Given the description of an element on the screen output the (x, y) to click on. 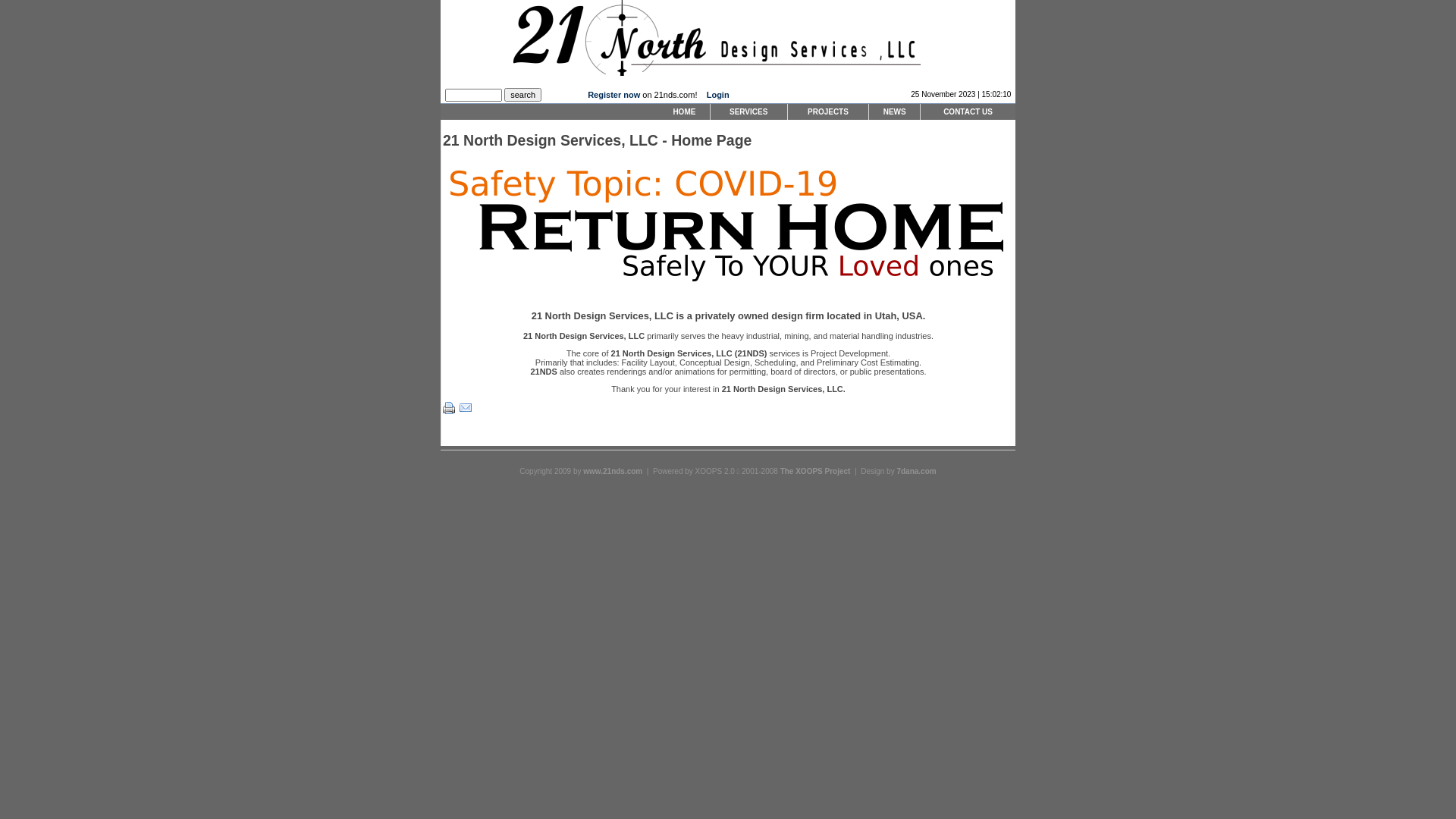
www.21nds.com Element type: text (612, 471)
NEWS Element type: text (894, 111)
7dana.com Element type: text (915, 471)
HOME Element type: text (683, 111)
Login Element type: text (717, 94)
The XOOPS Project Element type: text (815, 471)
PROJECTS Element type: text (828, 111)
search Element type: text (522, 94)
SERVICES Element type: text (748, 111)
CONTACT US Element type: text (967, 111)
Register now Element type: text (613, 94)
Advertisement Element type: hover (322, 230)
